Given the description of an element on the screen output the (x, y) to click on. 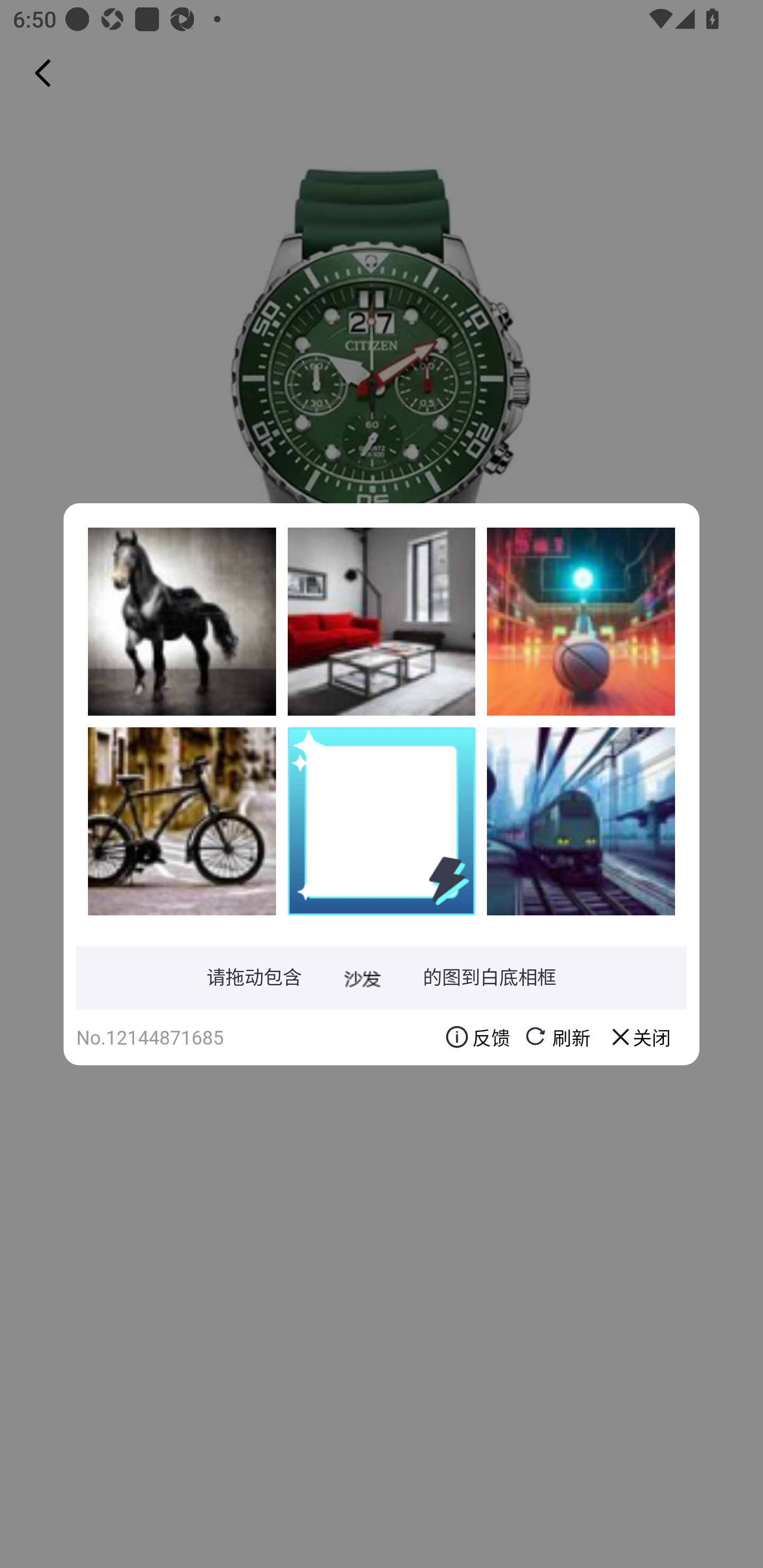
hFHD7iM9oE927H7h41sG+yxJqs0TSomio (181, 621)
MnoxONo (580, 621)
WL0mXXhvC5uIIVuT5sX91Oreat3G3tYprDe (181, 820)
YUNZJMLaDLzqcDJ60+A6 (580, 820)
